Given the description of an element on the screen output the (x, y) to click on. 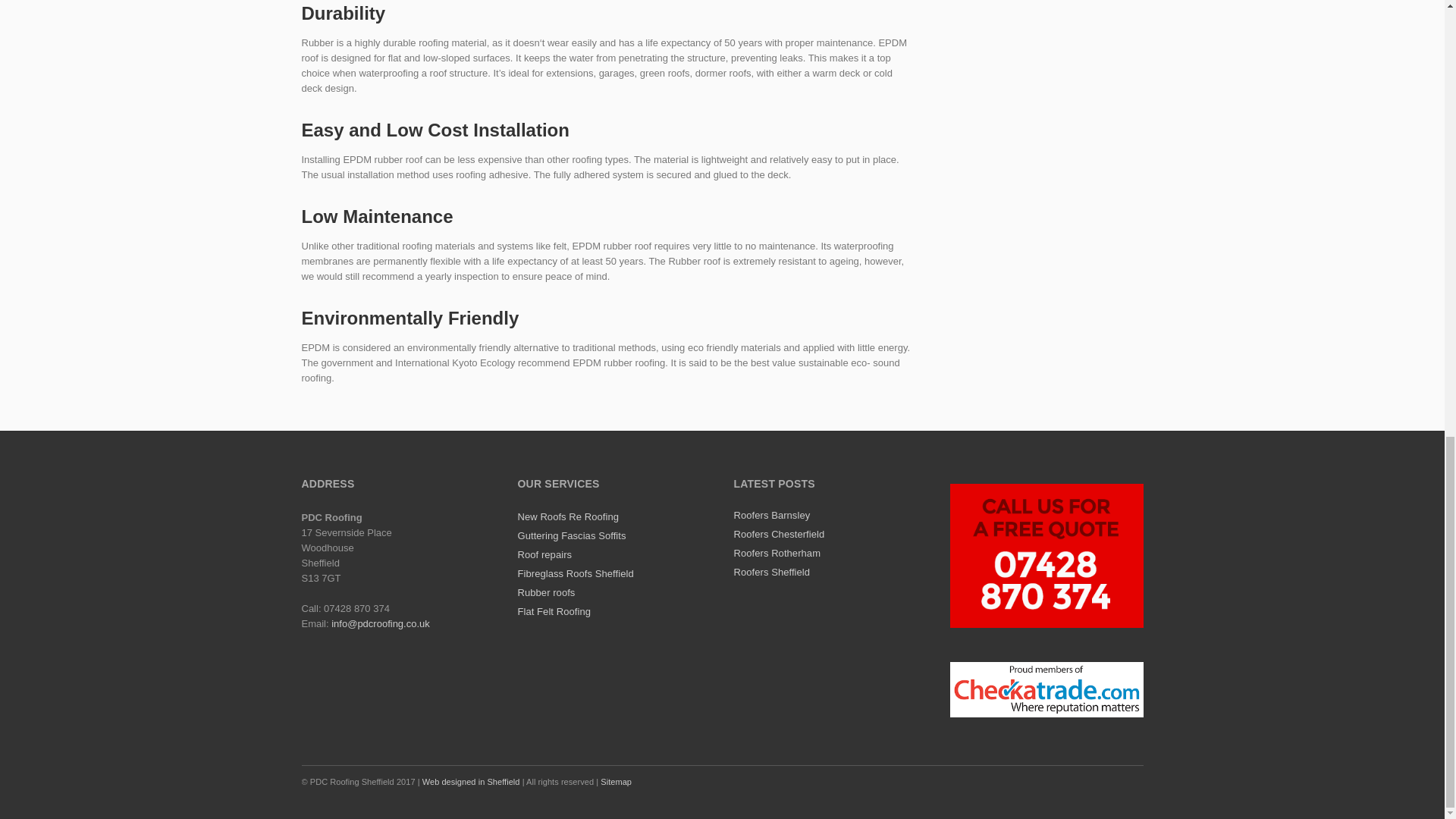
Roof repairs (544, 554)
E-mail (1096, 780)
RSS (1127, 780)
Rubber roofs (545, 592)
Fibreglass Roofs Sheffield (574, 573)
Flat Felt Roofing (552, 611)
Guttering Fascias Soffits (571, 535)
Facebook (1064, 780)
New Roofs Re Roofing (567, 516)
